Given the description of an element on the screen output the (x, y) to click on. 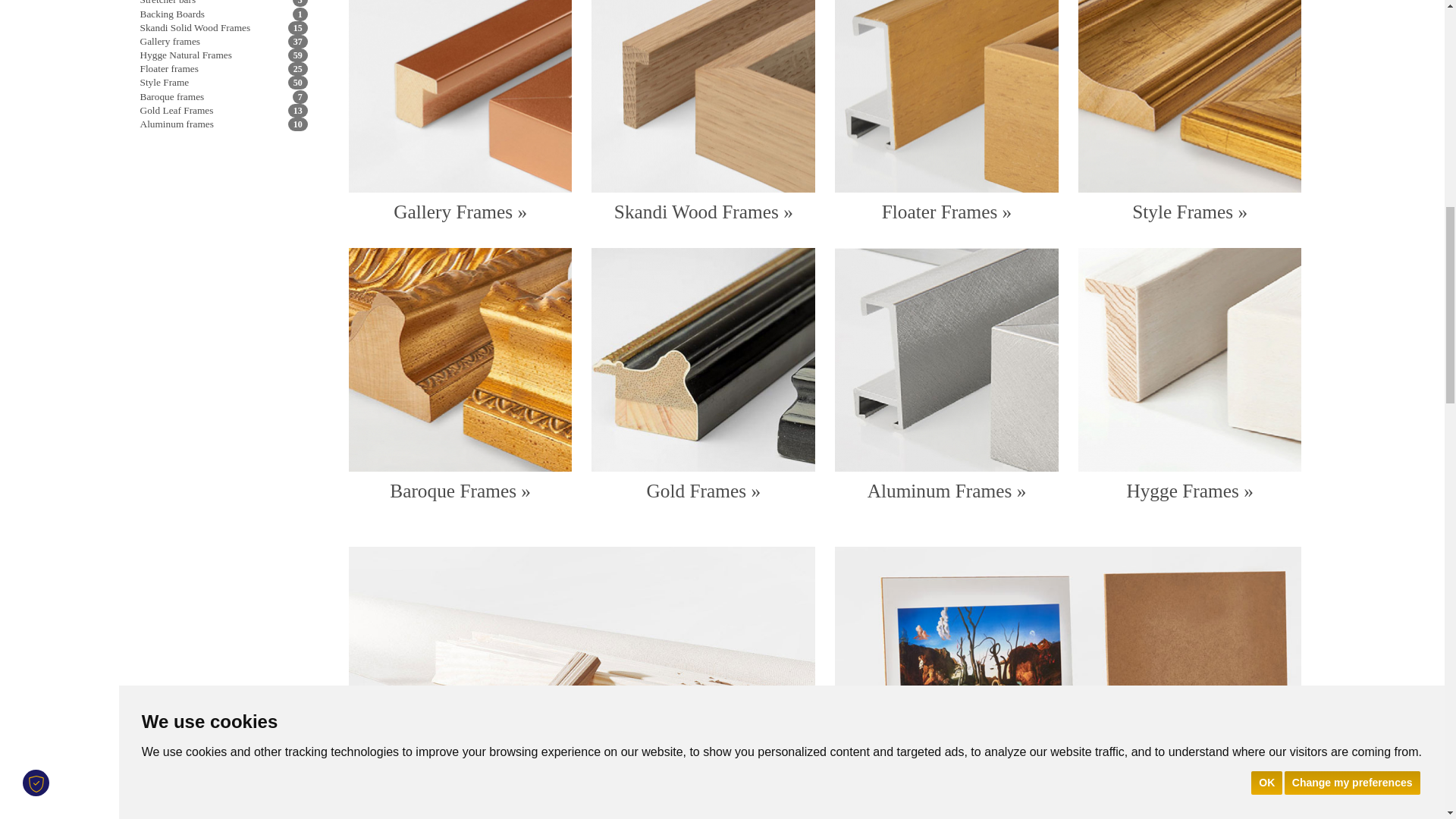
Gallery frames for your artworks (460, 96)
